Given the description of an element on the screen output the (x, y) to click on. 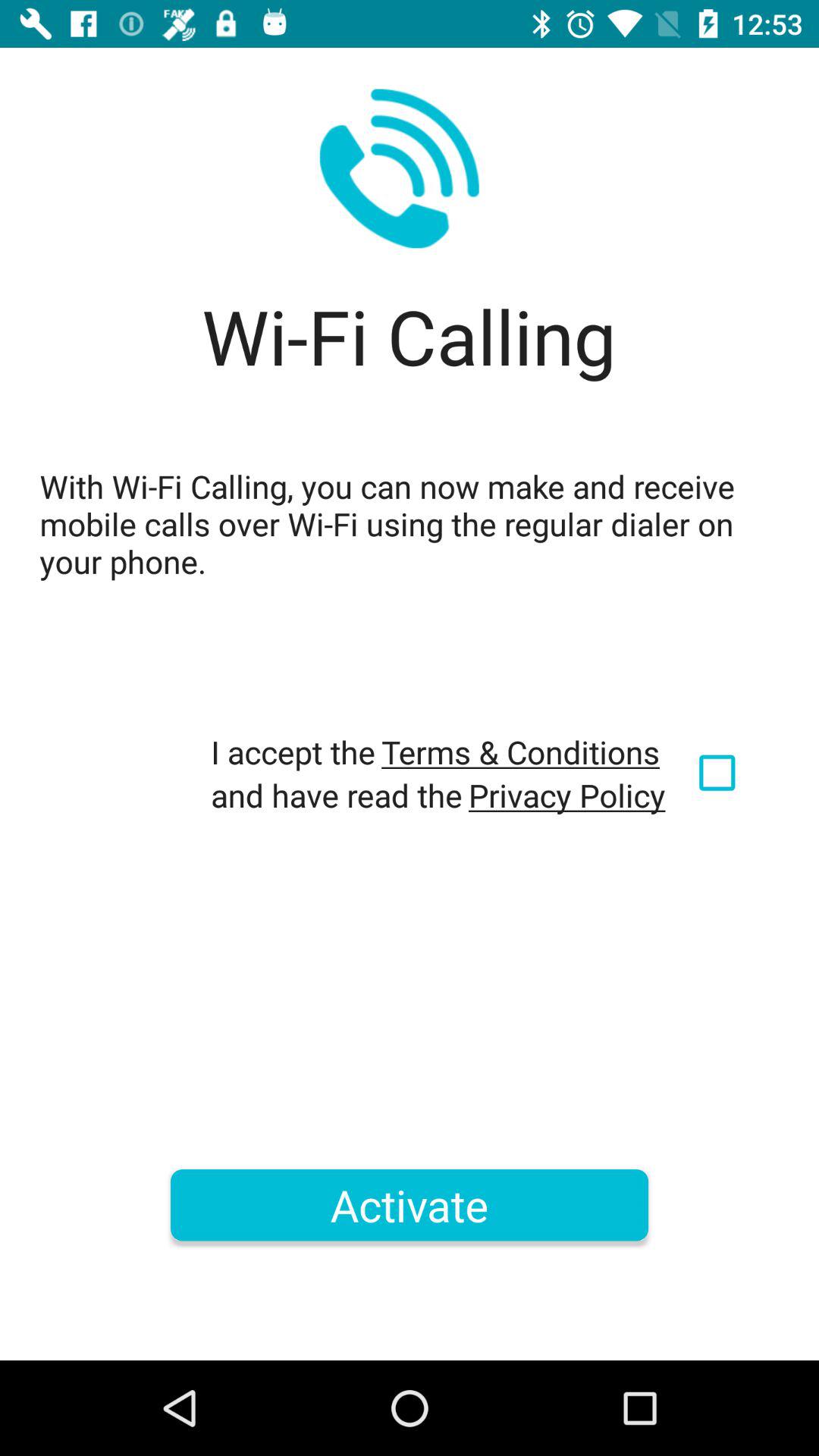
select item below the with wi fi icon (720, 773)
